Given the description of an element on the screen output the (x, y) to click on. 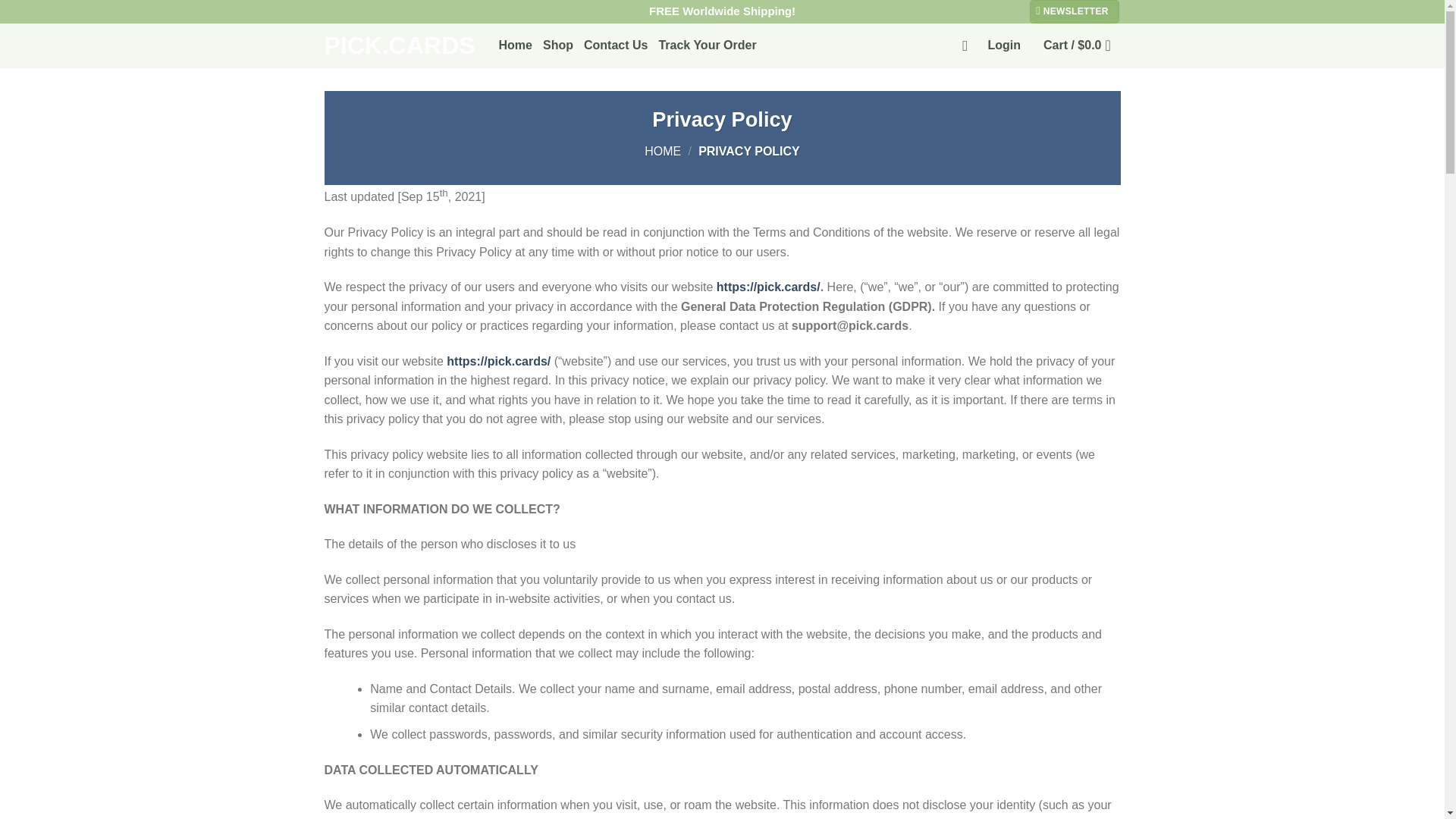
HOME (663, 151)
PICK.CARDS (400, 45)
Track Your Order (706, 44)
Pick.Cards - Pick Best Cards Against Editions Here. (400, 45)
NEWSLETTER (1074, 11)
Login (1003, 44)
Cart (1082, 45)
Shop (558, 44)
Home (515, 44)
Contact Us (615, 44)
